Given the description of an element on the screen output the (x, y) to click on. 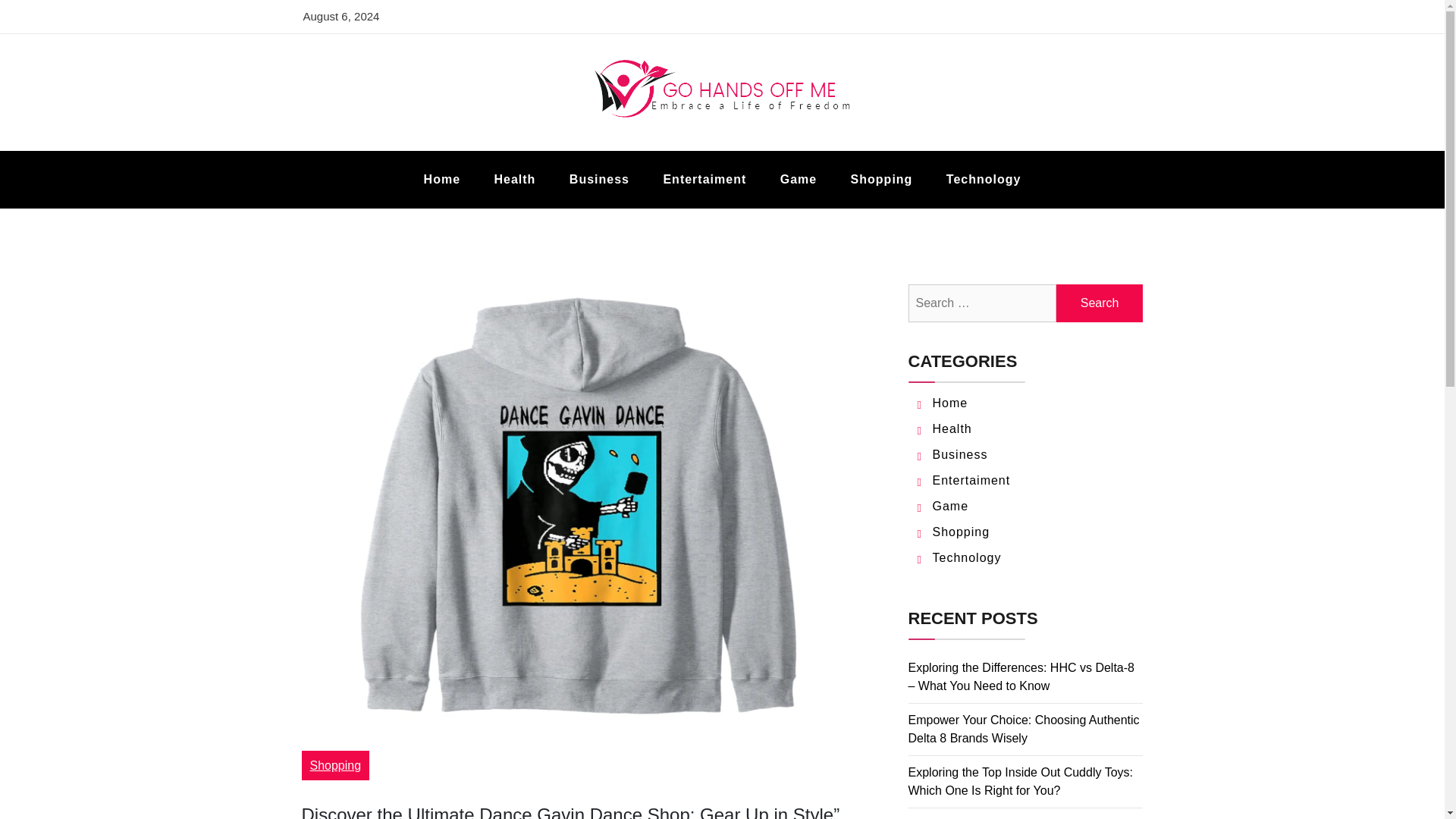
Shopping (881, 179)
Health (514, 179)
Entertaiment (971, 480)
Shopping (335, 765)
Search (1099, 303)
Go Hands Off Me (437, 149)
Business (960, 454)
Home (950, 402)
